Given the description of an element on the screen output the (x, y) to click on. 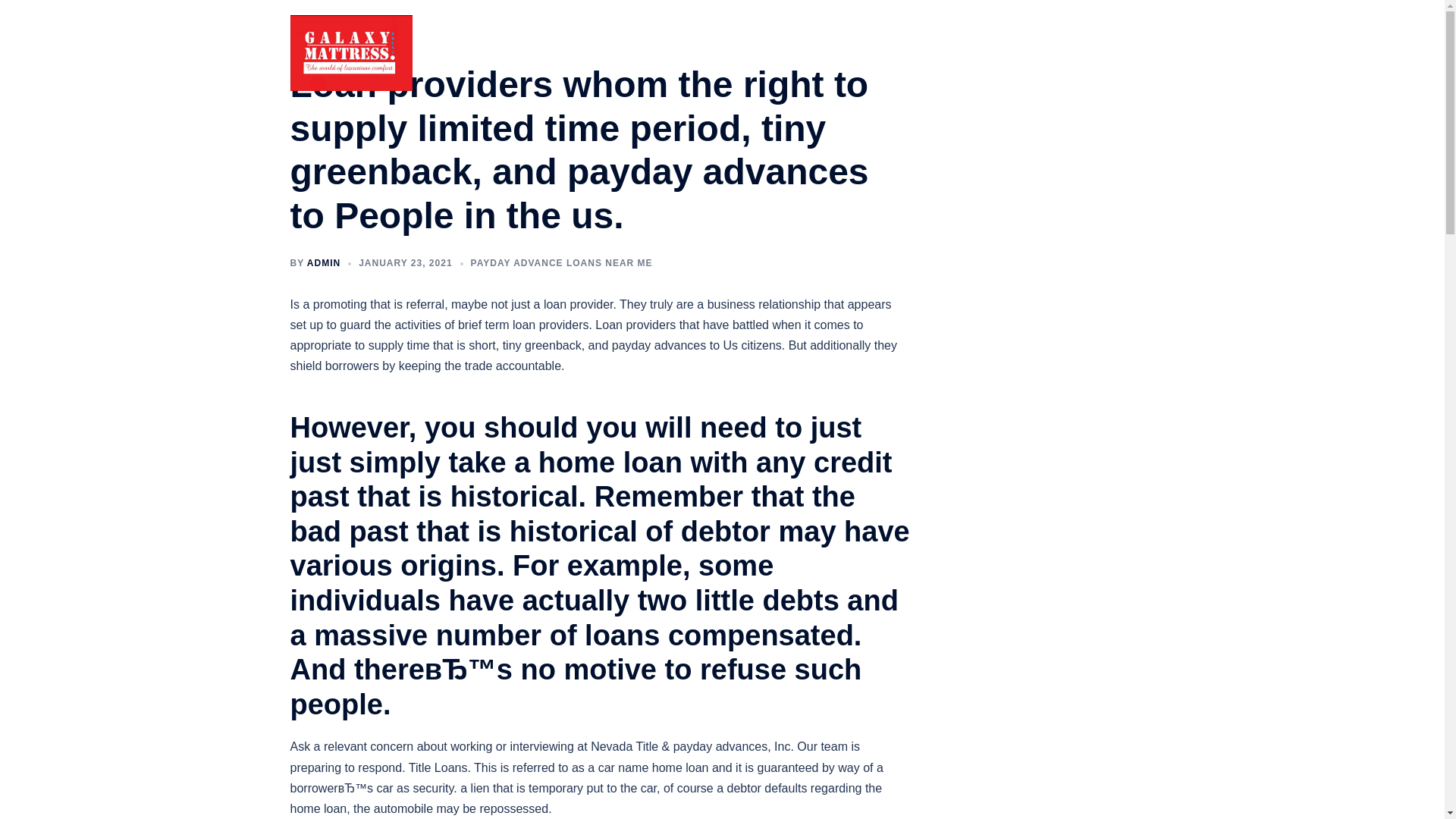
Home (968, 53)
JANUARY 23, 2021 (404, 262)
Contact Us (1075, 53)
Cart (1133, 53)
Shop (1016, 53)
Galaxy Mattress Point (350, 51)
ADMIN (323, 262)
PAYDAY ADVANCE LOANS NEAR ME (561, 262)
